Given the description of an element on the screen output the (x, y) to click on. 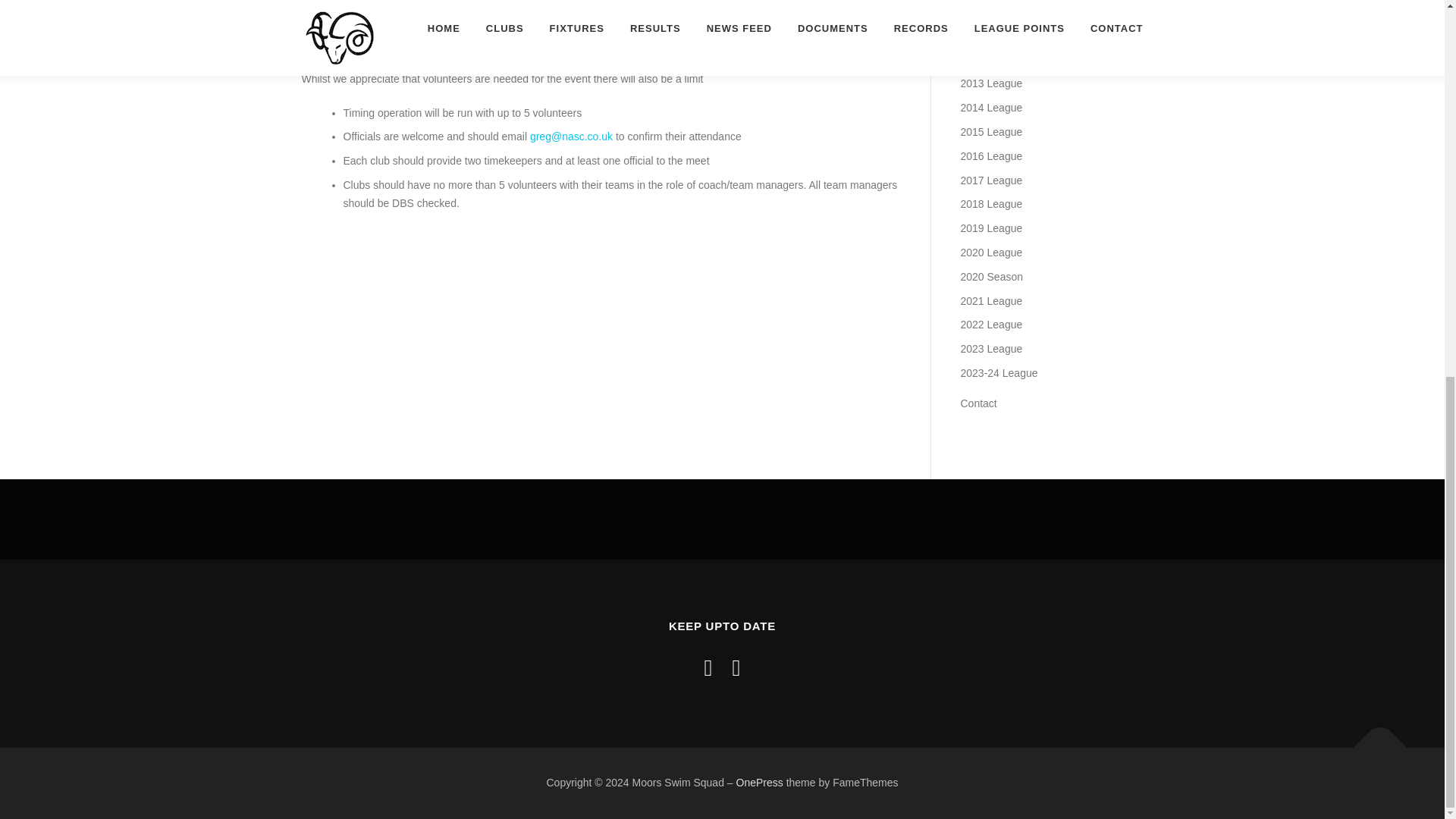
2017 League (990, 180)
2012 League (990, 60)
League Points (993, 10)
2015 League (990, 132)
2011 League (990, 35)
2014 League (990, 107)
2019 League (990, 227)
2018 League (990, 203)
Back To Top (1372, 740)
2016 League (990, 155)
2013 League (990, 82)
